Given the description of an element on the screen output the (x, y) to click on. 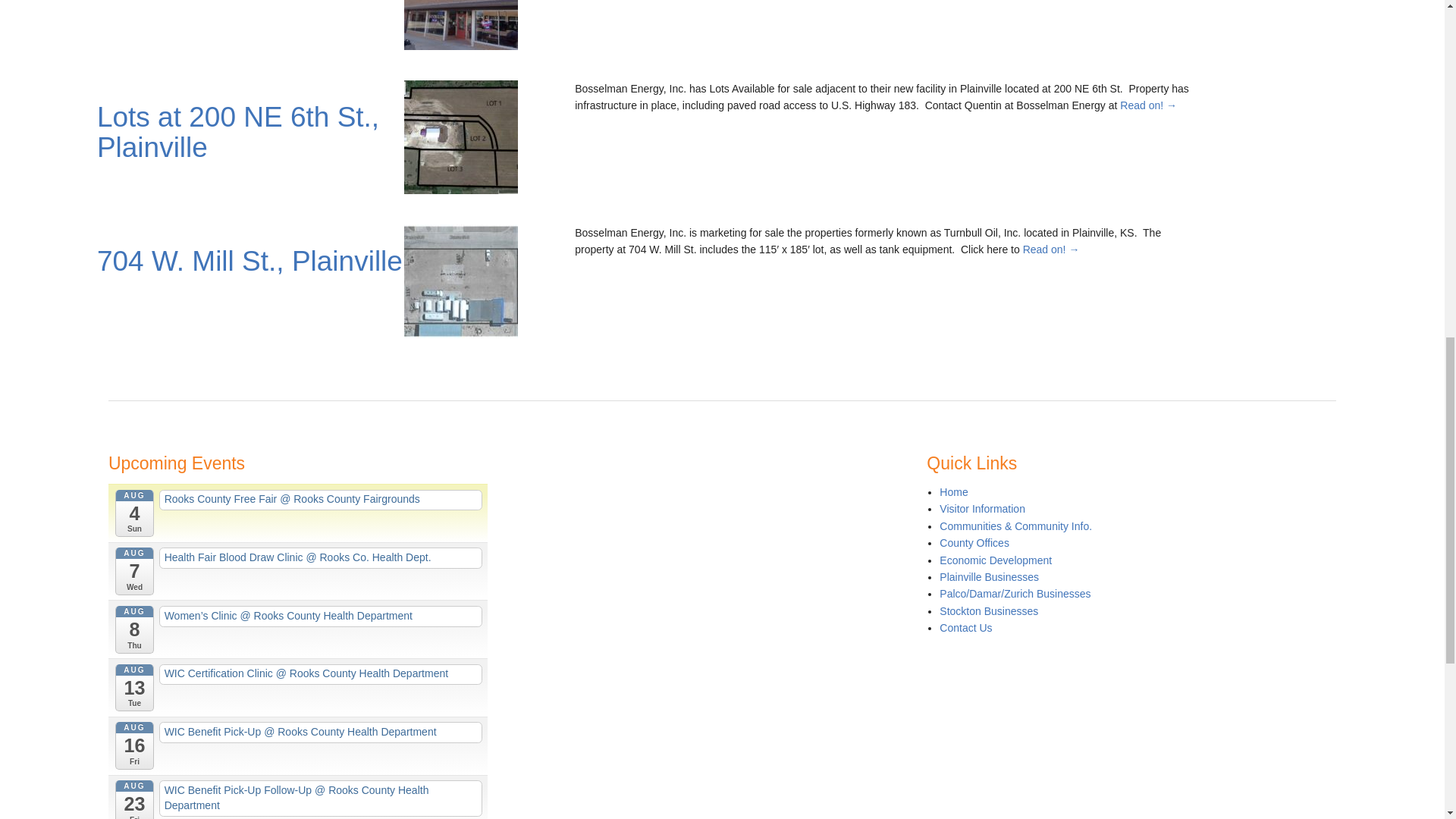
Permalink to 704 W. Mill St., Plainville (250, 260)
Permalink to Lots at 200 NE 6th St., Plainville (237, 132)
